Given the description of an element on the screen output the (x, y) to click on. 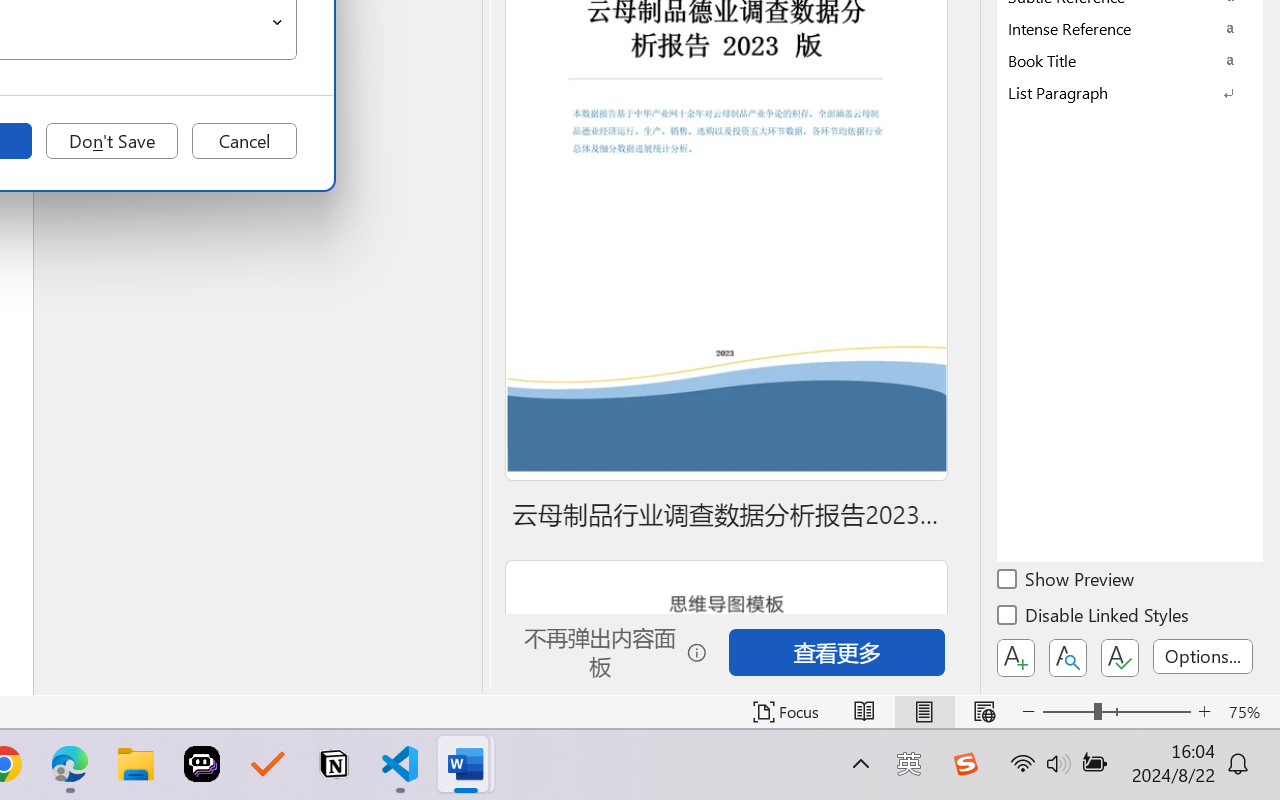
Zoom (1116, 712)
Book Title (1130, 60)
Disable Linked Styles (1094, 618)
Class: Image (965, 764)
Class: NetUIImage (1116, 92)
Poe (201, 764)
Web Layout (984, 712)
List Paragraph (1130, 92)
Options... (1203, 656)
Intense Reference (1130, 28)
